Given the description of an element on the screen output the (x, y) to click on. 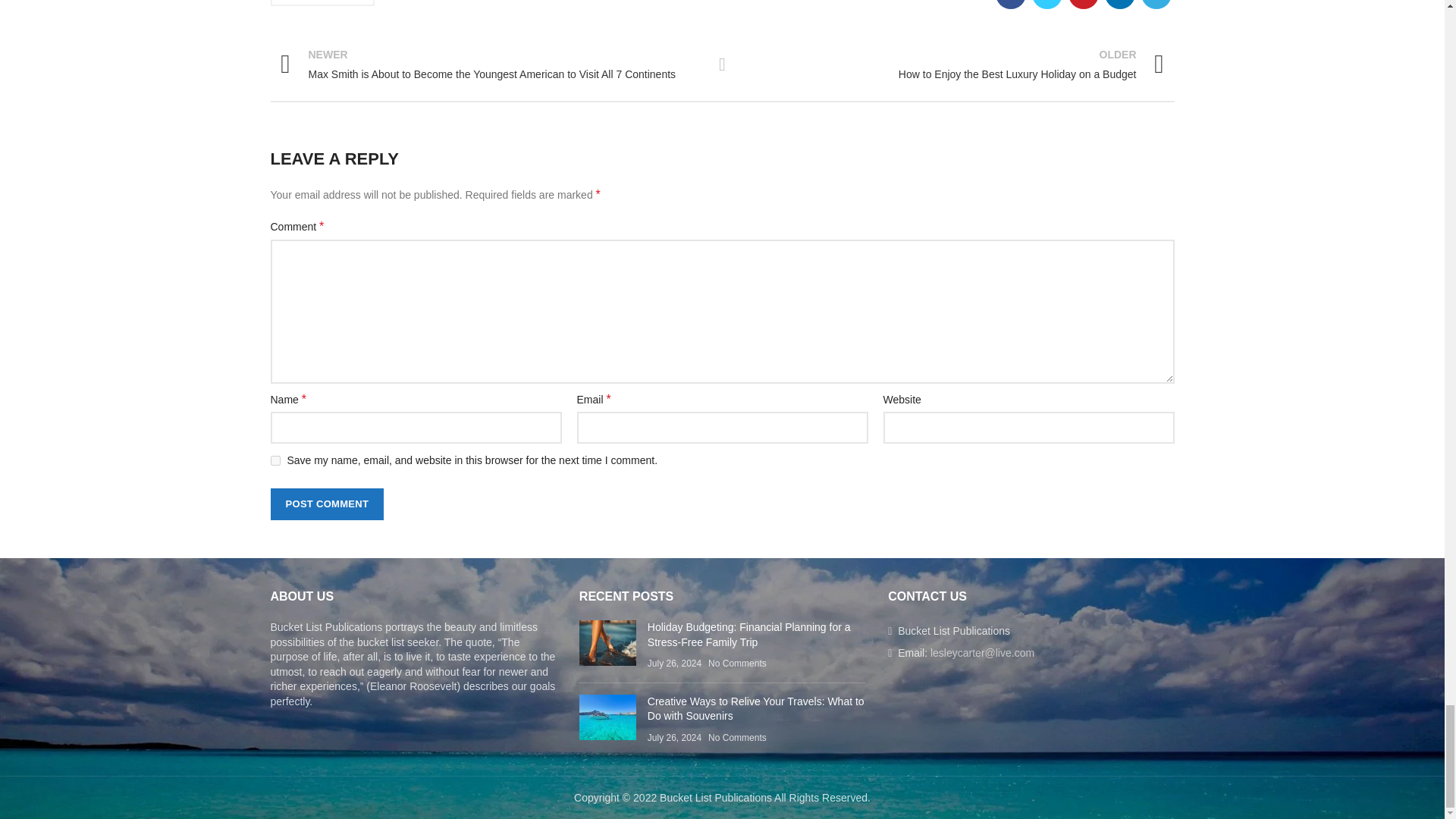
Post Comment (326, 504)
yes (274, 460)
Back to list (722, 64)
Post Comment (326, 504)
No Comments (737, 663)
Toddler Room (321, 2)
Nakation (953, 63)
Boat Tour, Crete, Greece (607, 642)
